Given the description of an element on the screen output the (x, y) to click on. 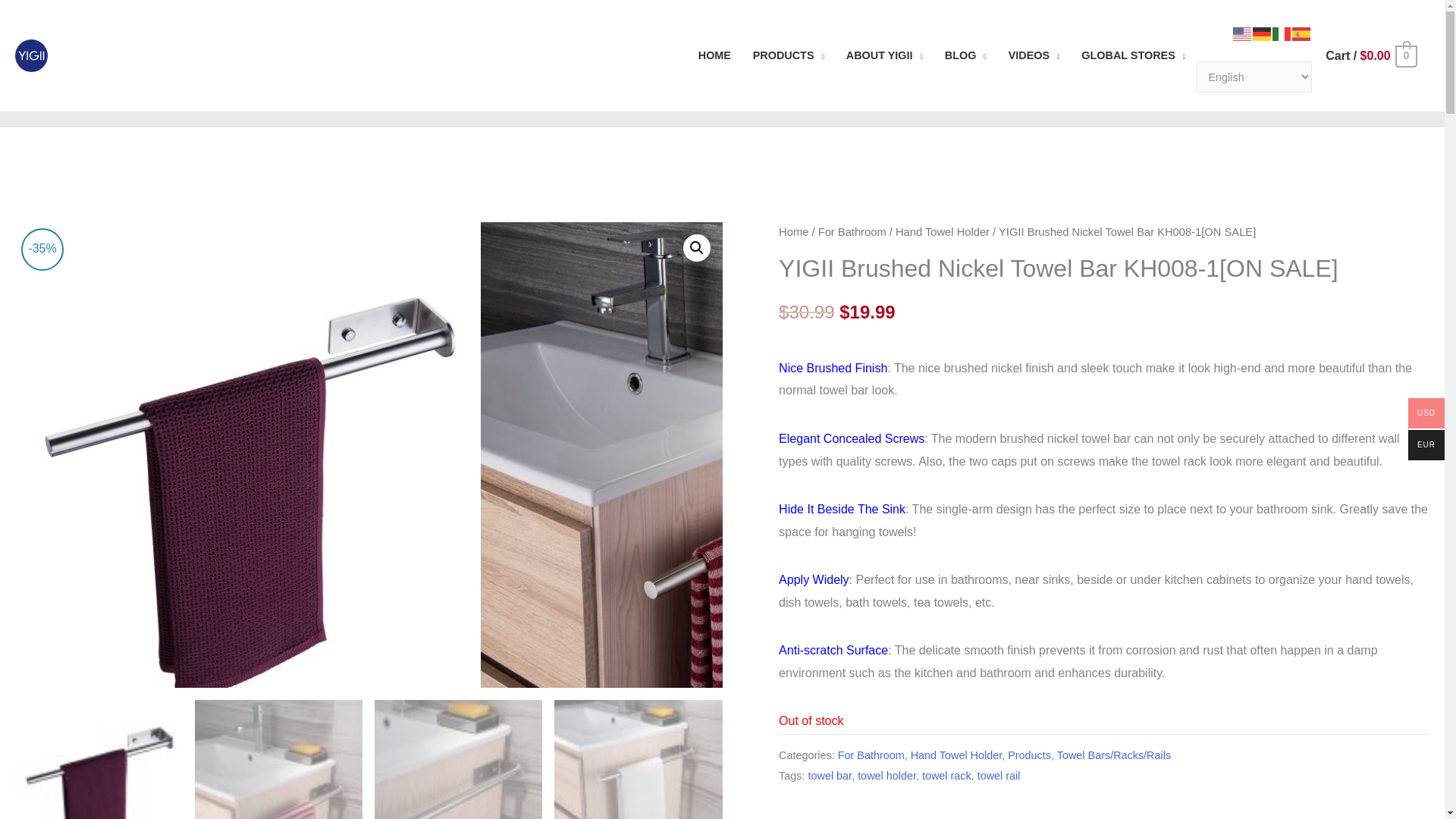
German (1262, 33)
English (1242, 33)
View your shopping cart (1369, 55)
ABOUT YIGII (883, 55)
PRODUCTS (787, 55)
Italian (1282, 33)
HOME (714, 55)
BLOG (965, 55)
Spanish (1301, 33)
